Given the description of an element on the screen output the (x, y) to click on. 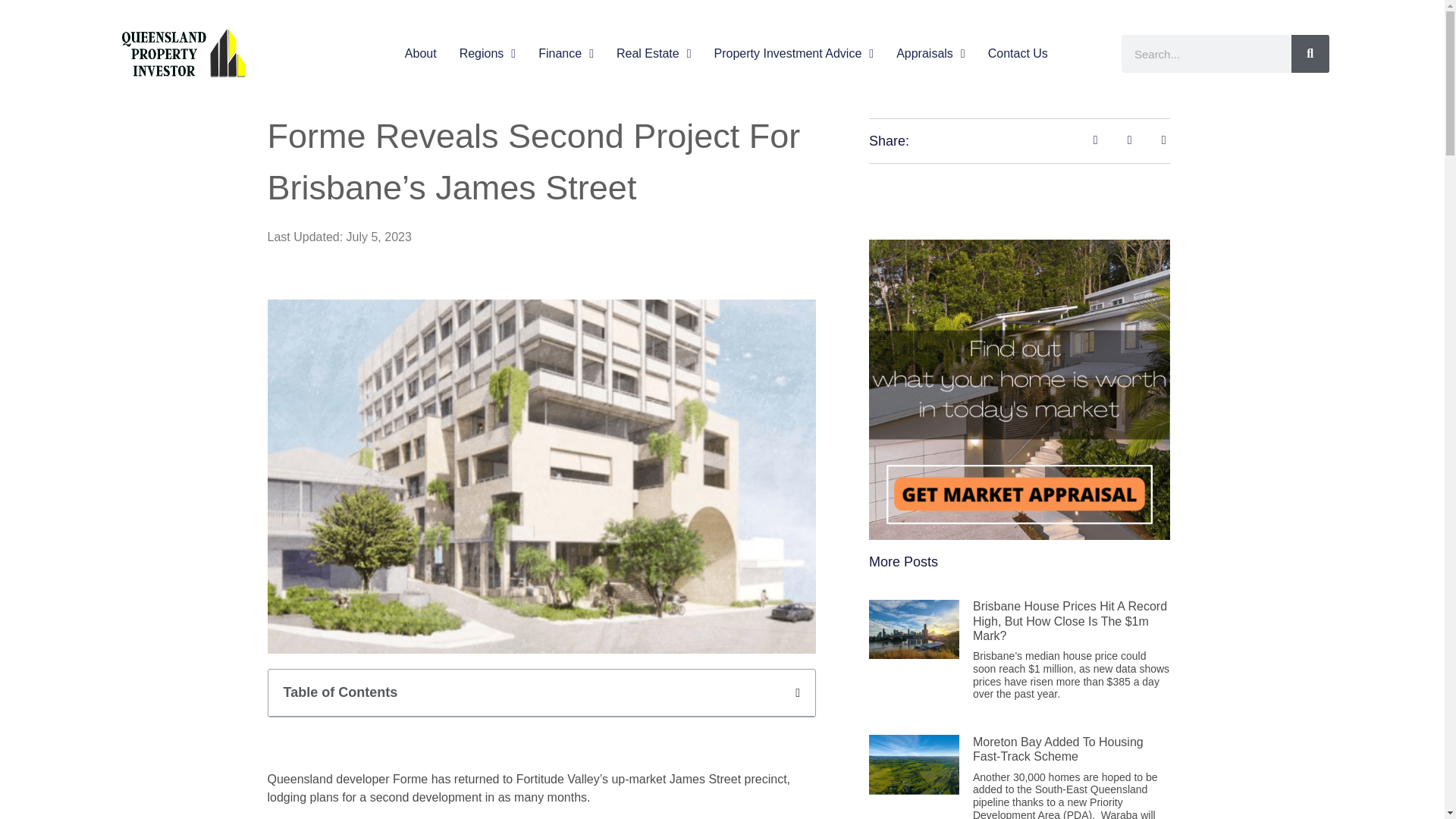
Finance (566, 53)
Regions (488, 53)
Real Estate (653, 53)
Appraisals (930, 53)
Property Investment Advice (794, 53)
Contact Us (1018, 53)
About (420, 53)
